Given the description of an element on the screen output the (x, y) to click on. 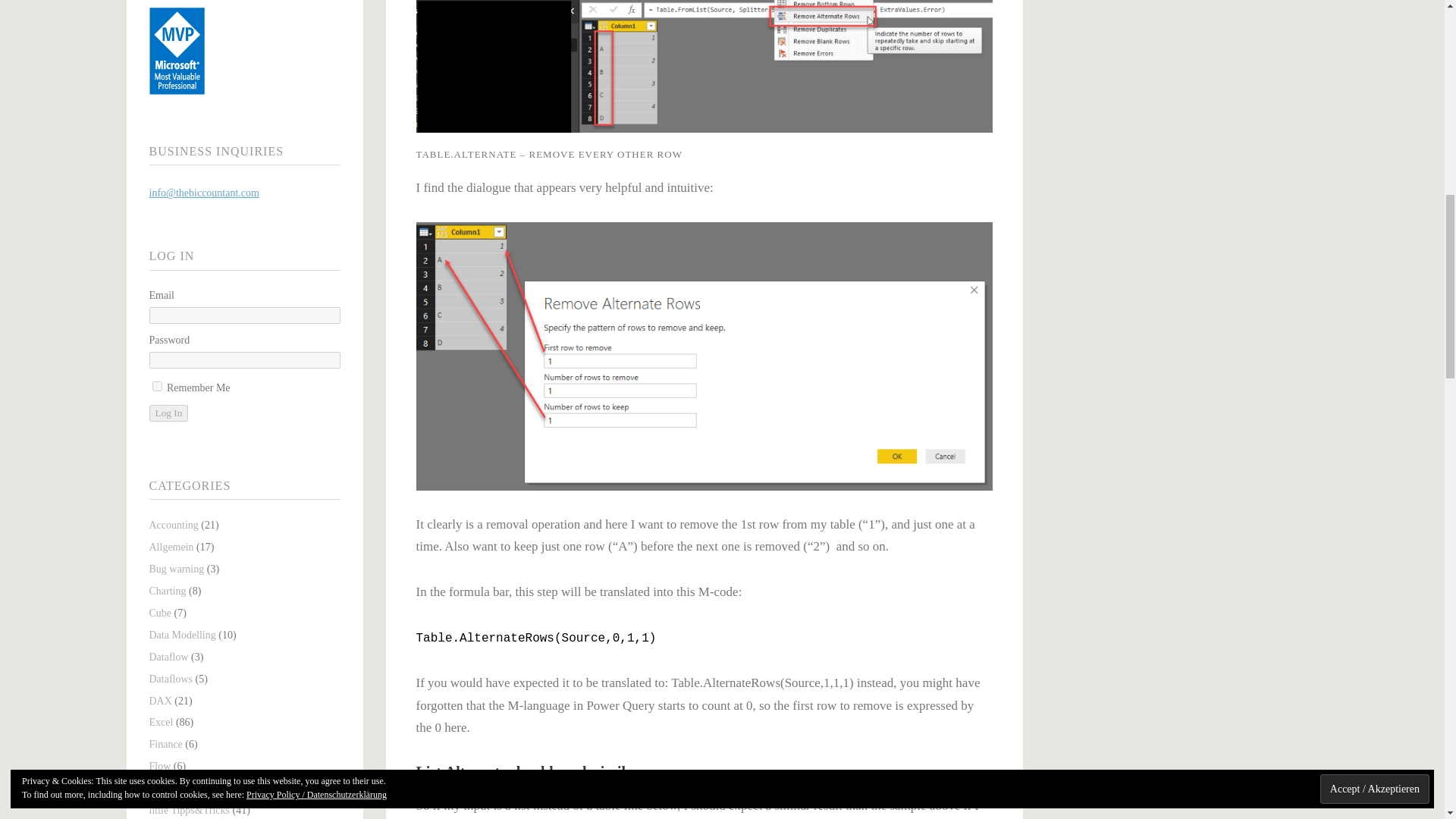
Excel (160, 722)
Charting (167, 591)
Bug warning (175, 568)
DAX (159, 700)
Accounting (173, 524)
Dataflows (170, 678)
Function (167, 787)
Finance (165, 744)
Flow (159, 766)
forever (156, 386)
Cube (159, 613)
Dataflow (167, 656)
Allgemein (170, 546)
Data Modelling (181, 634)
Log In (167, 412)
